Given the description of an element on the screen output the (x, y) to click on. 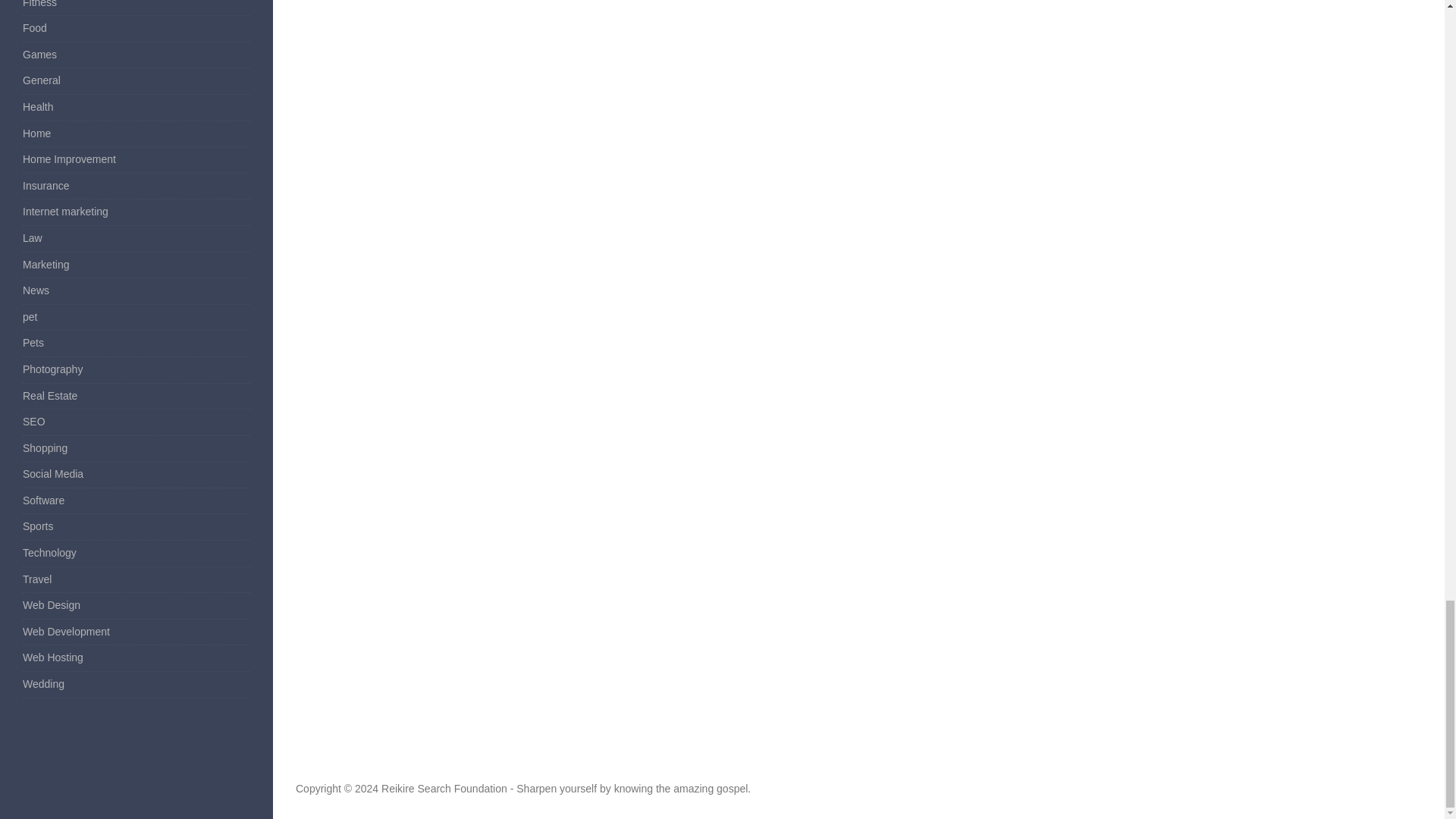
Reikire Search Foundation (443, 788)
